Given the description of an element on the screen output the (x, y) to click on. 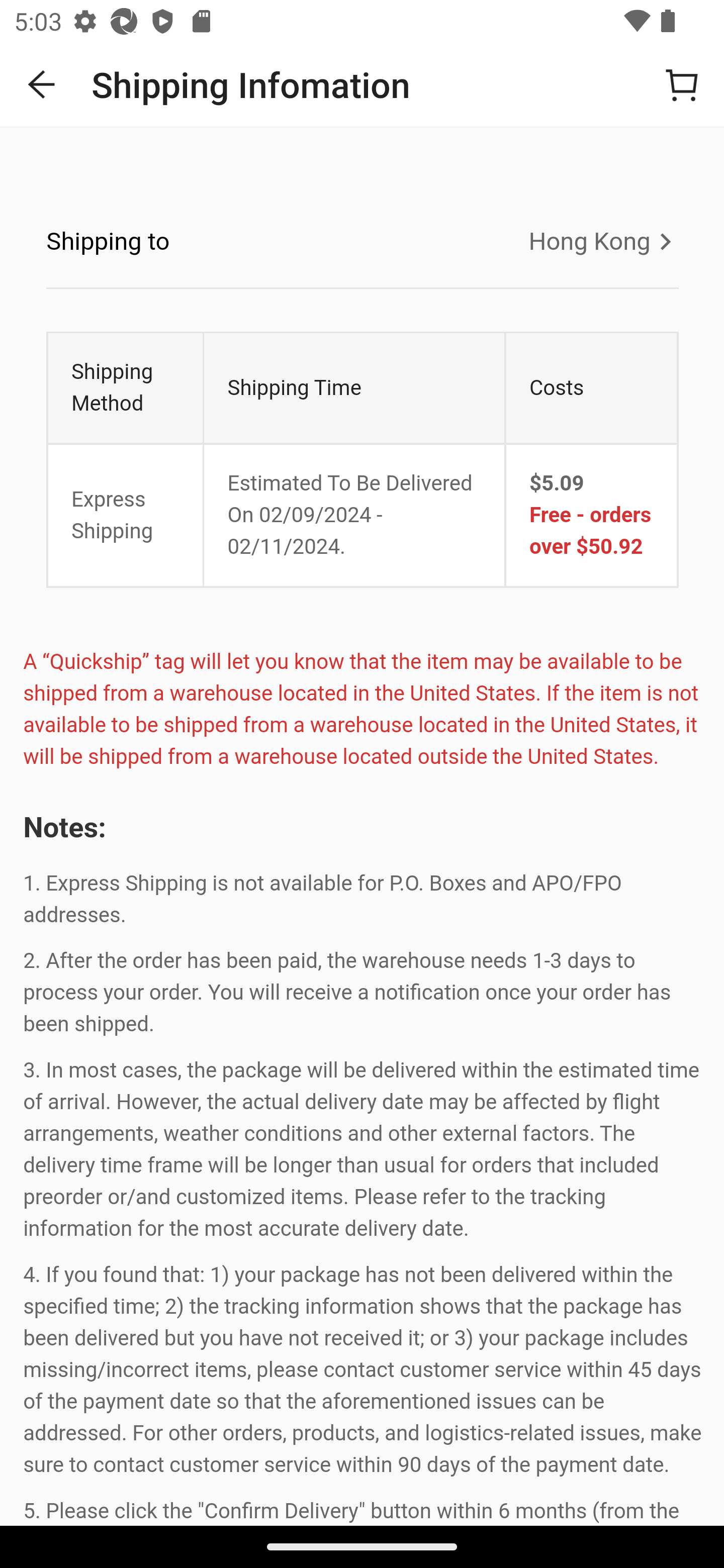
BACK (42, 84)
Cart (681, 84)
Hong Kong  (596, 241)
Shipping to Hong Kong  (362, 242)
